Given the description of an element on the screen output the (x, y) to click on. 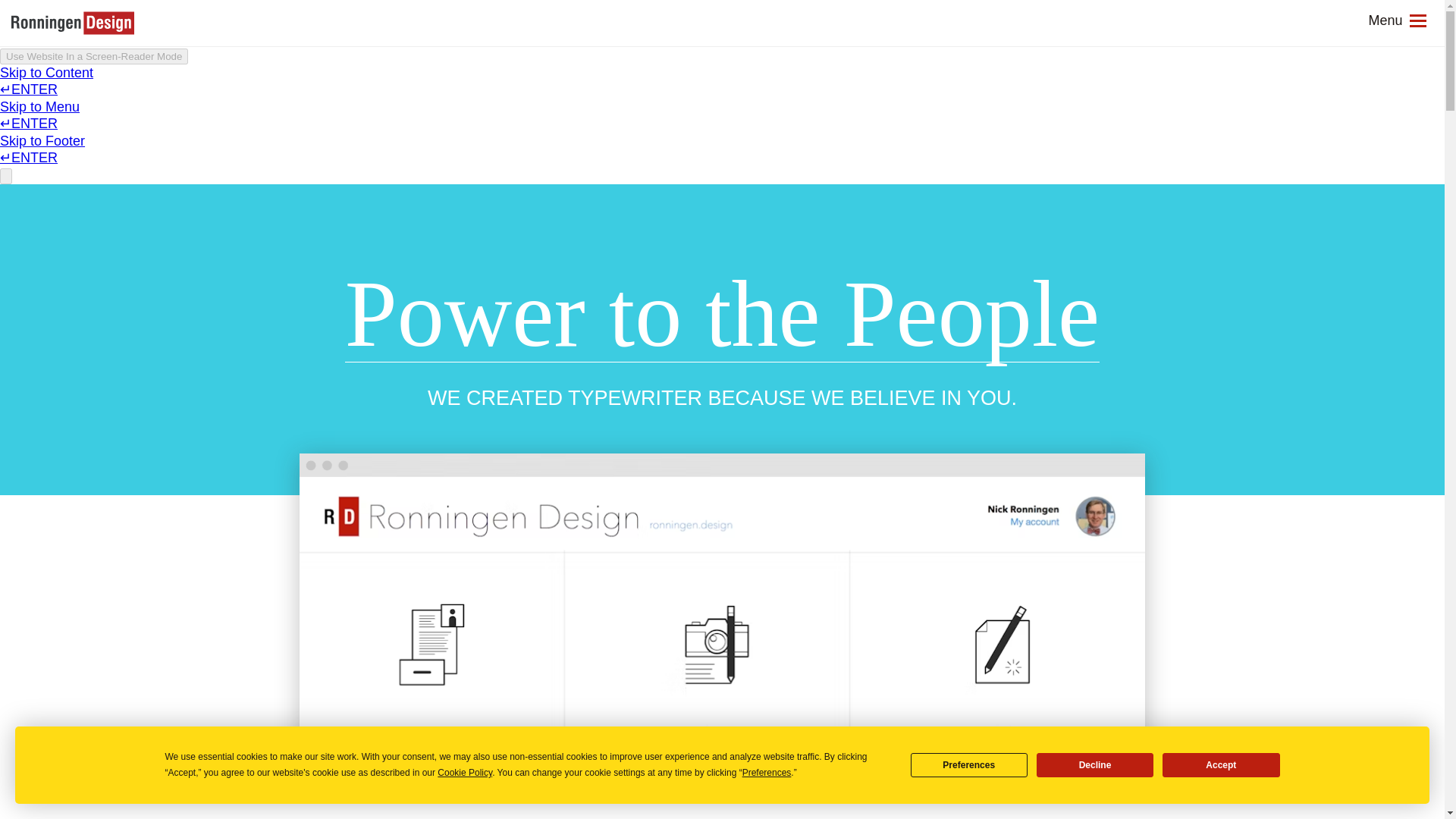
Ronninen Design (72, 23)
Accept (1220, 764)
Preferences (969, 764)
Decline (1094, 764)
Menu (1396, 20)
